Given the description of an element on the screen output the (x, y) to click on. 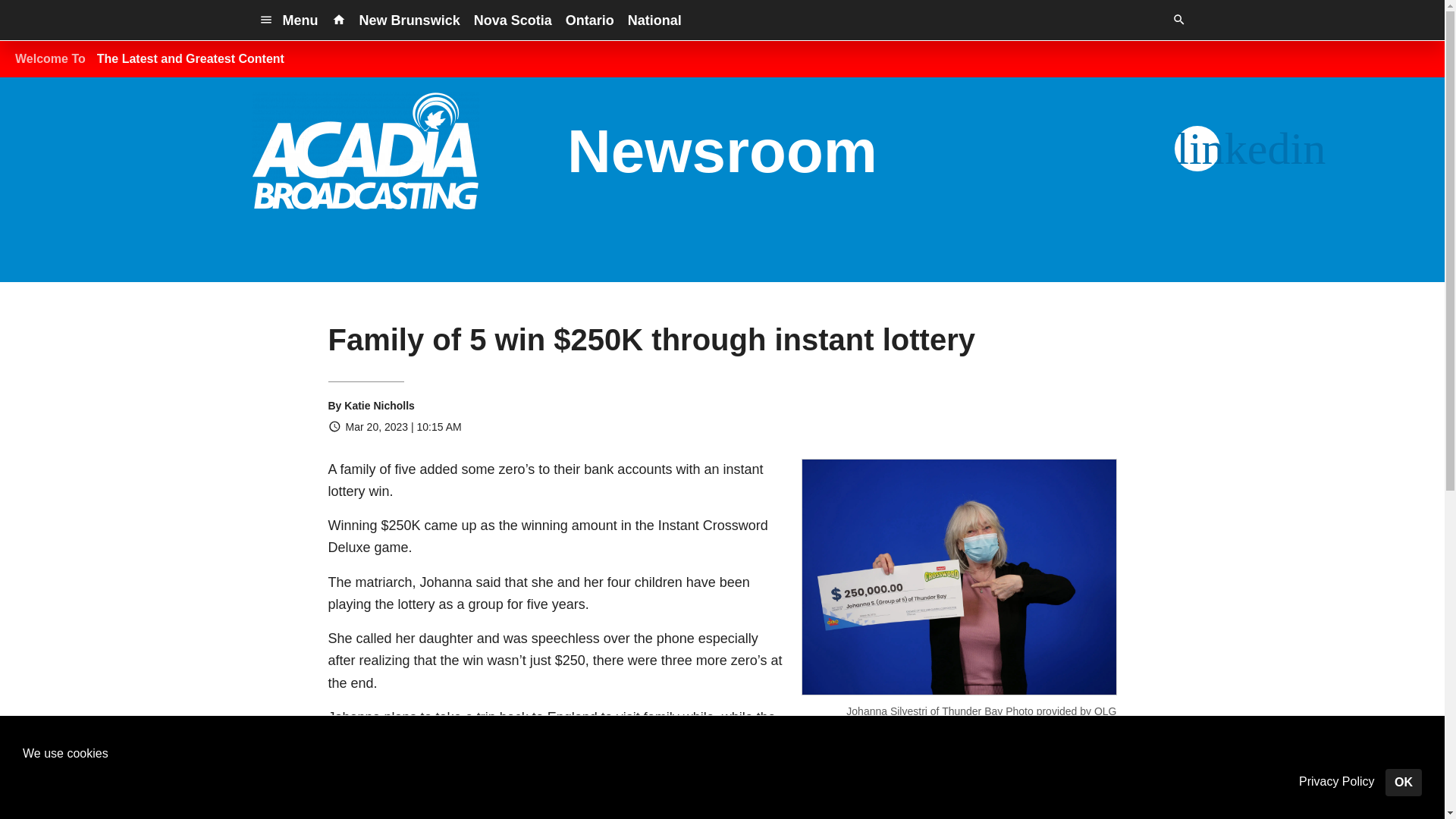
National (654, 19)
Privacy Policy (1336, 781)
Ontario (590, 19)
LinkedIn (1197, 148)
The Latest and Greatest Content (190, 58)
New Brunswick (409, 19)
Nova Scotia (513, 19)
Menu (287, 19)
The Latest and Greatest Content (190, 58)
OK (1404, 782)
